Given the description of an element on the screen output the (x, y) to click on. 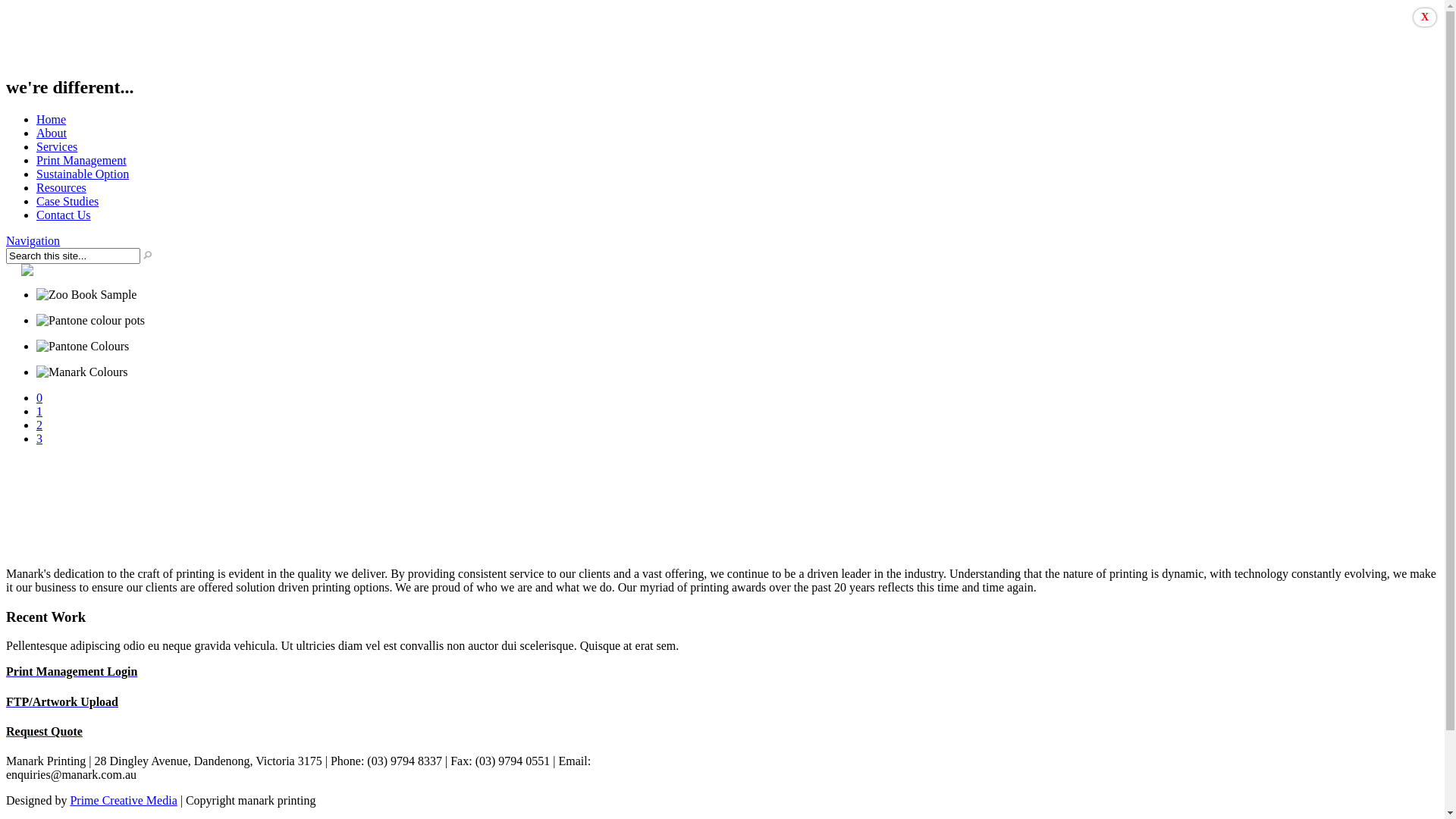
Sustainable Option Element type: text (82, 173)
Contact Us Element type: text (63, 214)
Resources Element type: text (61, 187)
About Element type: text (51, 132)
FTP/Artwork Upload Element type: text (722, 702)
Case Studies Element type: text (67, 200)
Print Management Element type: text (81, 159)
0 Element type: text (39, 397)
Print Management Login Element type: text (722, 671)
Navigation Element type: text (32, 240)
X Element type: text (1424, 17)
Home Element type: text (50, 118)
Services Element type: text (56, 146)
2 Element type: text (39, 424)
Prime Creative Media Element type: text (122, 799)
1 Element type: text (39, 410)
3 Element type: text (39, 438)
Request Quote Element type: text (722, 731)
